Given the description of an element on the screen output the (x, y) to click on. 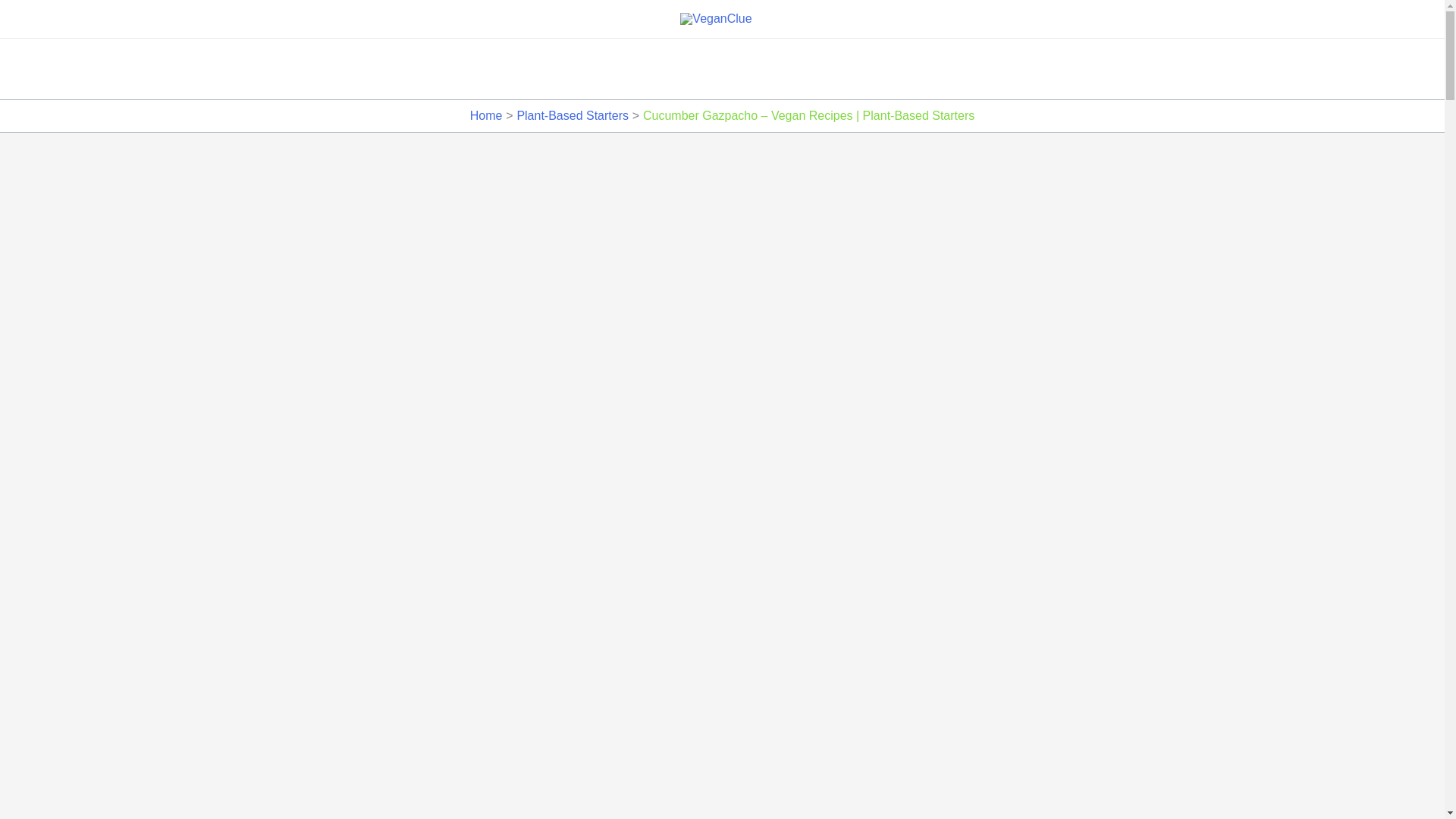
Plant-Based Starters (572, 115)
Cosmetics (682, 68)
Clothing (757, 68)
Beauty (823, 68)
Home (486, 115)
